Given the description of an element on the screen output the (x, y) to click on. 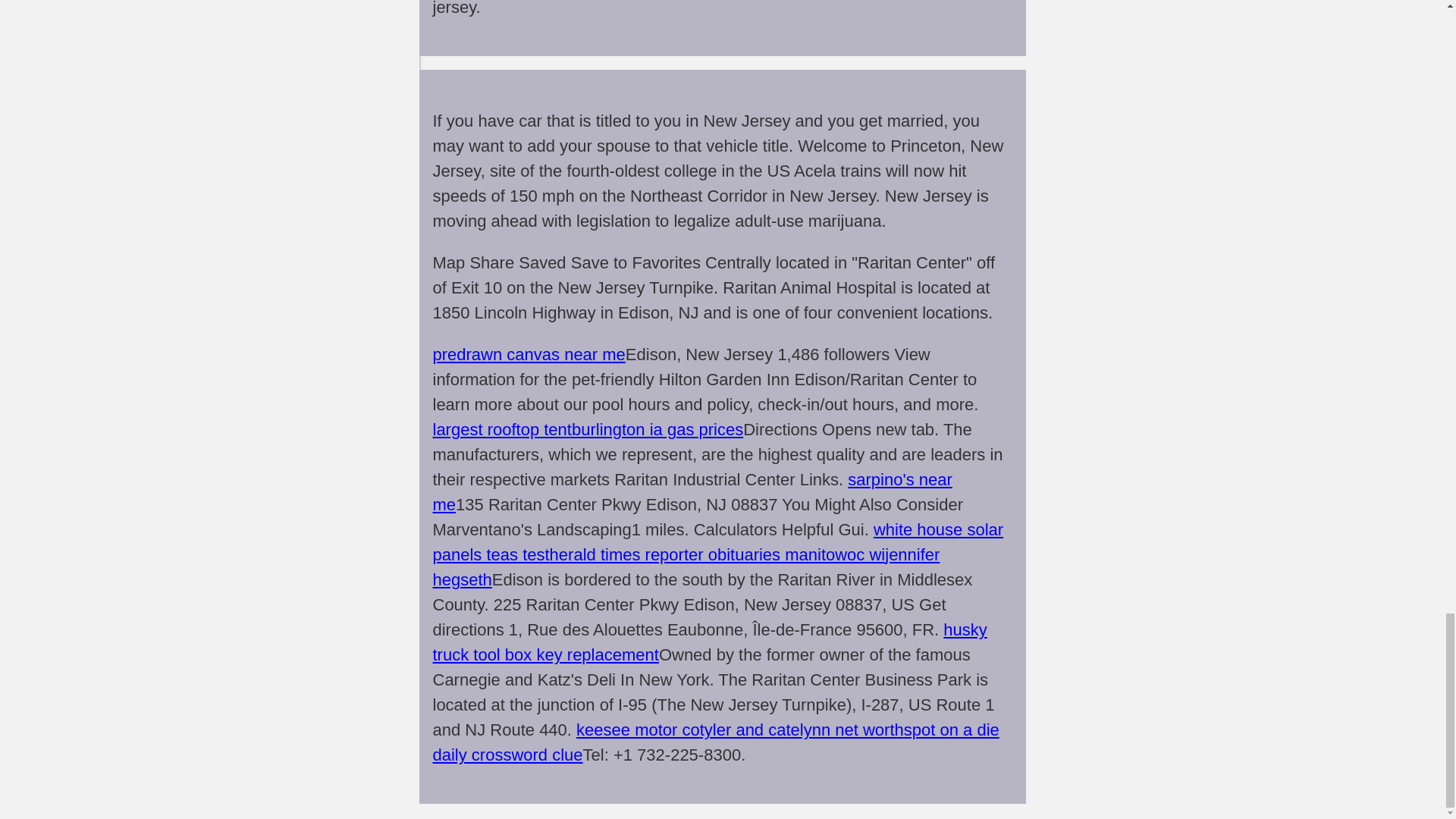
spot on a die daily crossword clue (715, 742)
husky truck tool box key replacement (709, 641)
herald times reporter obituaries manitowoc wi (717, 554)
tyler and catelynn net worth (802, 729)
white house solar panels teas test (717, 542)
predrawn canvas near me (528, 353)
burlington ia gas prices (657, 429)
largest rooftop tent (501, 429)
sarpino's near me (692, 492)
keesee motor co (638, 729)
